Given the description of an element on the screen output the (x, y) to click on. 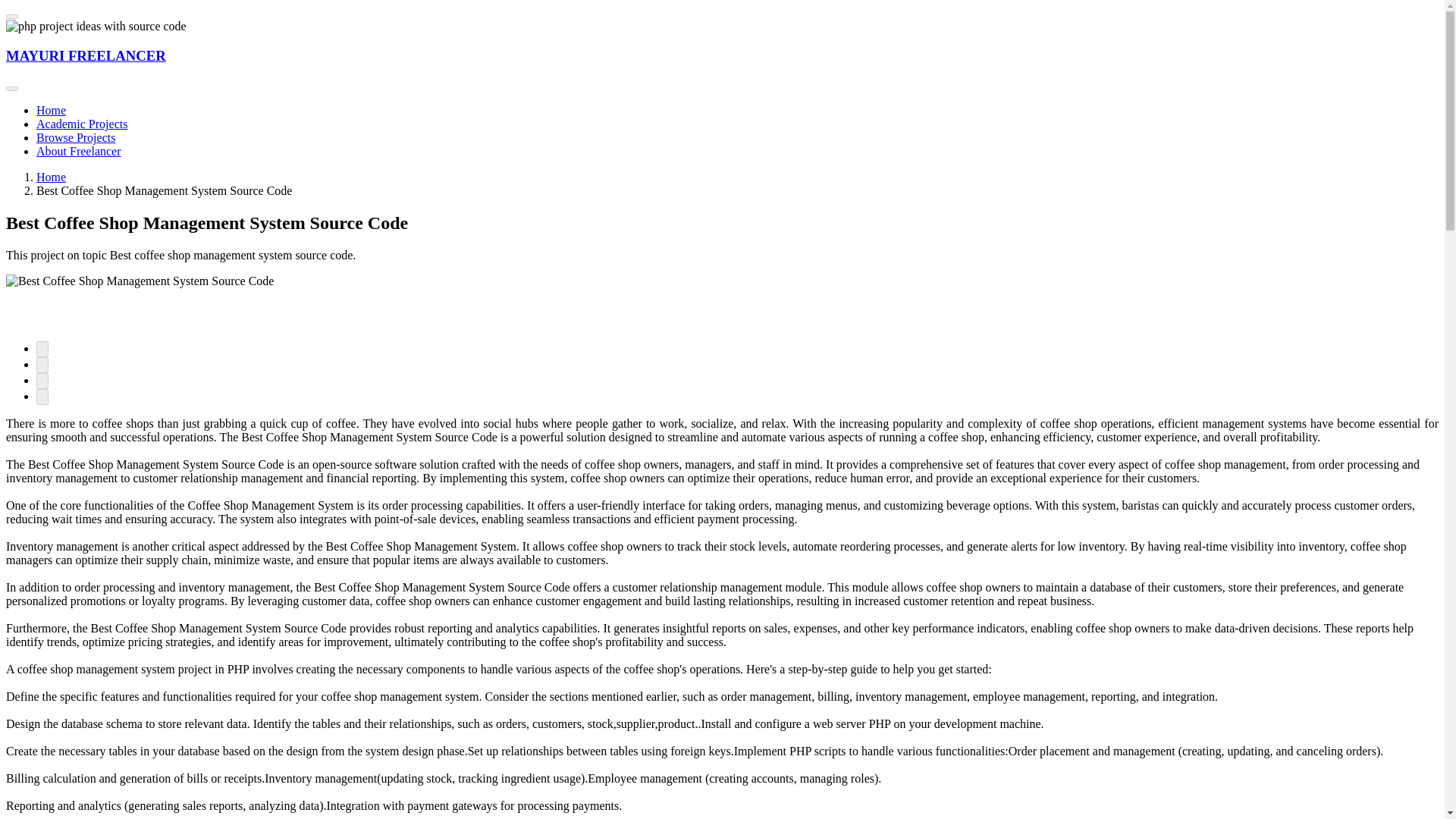
About Freelancer (78, 151)
Home (50, 110)
Browse Projects (75, 137)
MAYURI FREELANCER (85, 55)
Home (50, 176)
Academic Projects (82, 123)
